Given the description of an element on the screen output the (x, y) to click on. 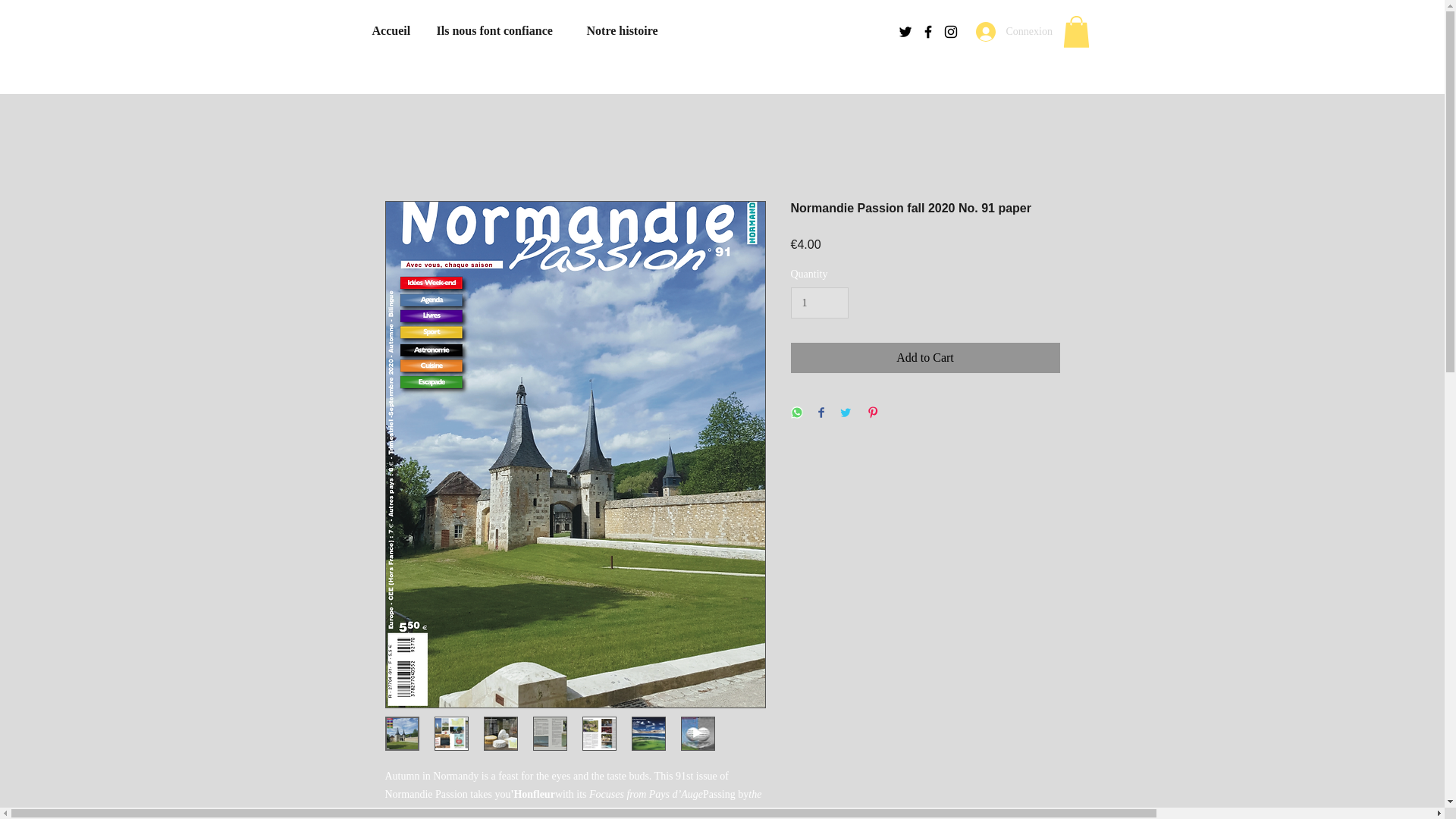
Notre histoire (625, 30)
Ils nous font confiance (500, 30)
Connexion (1009, 31)
Accueil (393, 30)
1 (818, 302)
Add to Cart (924, 358)
